Given the description of an element on the screen output the (x, y) to click on. 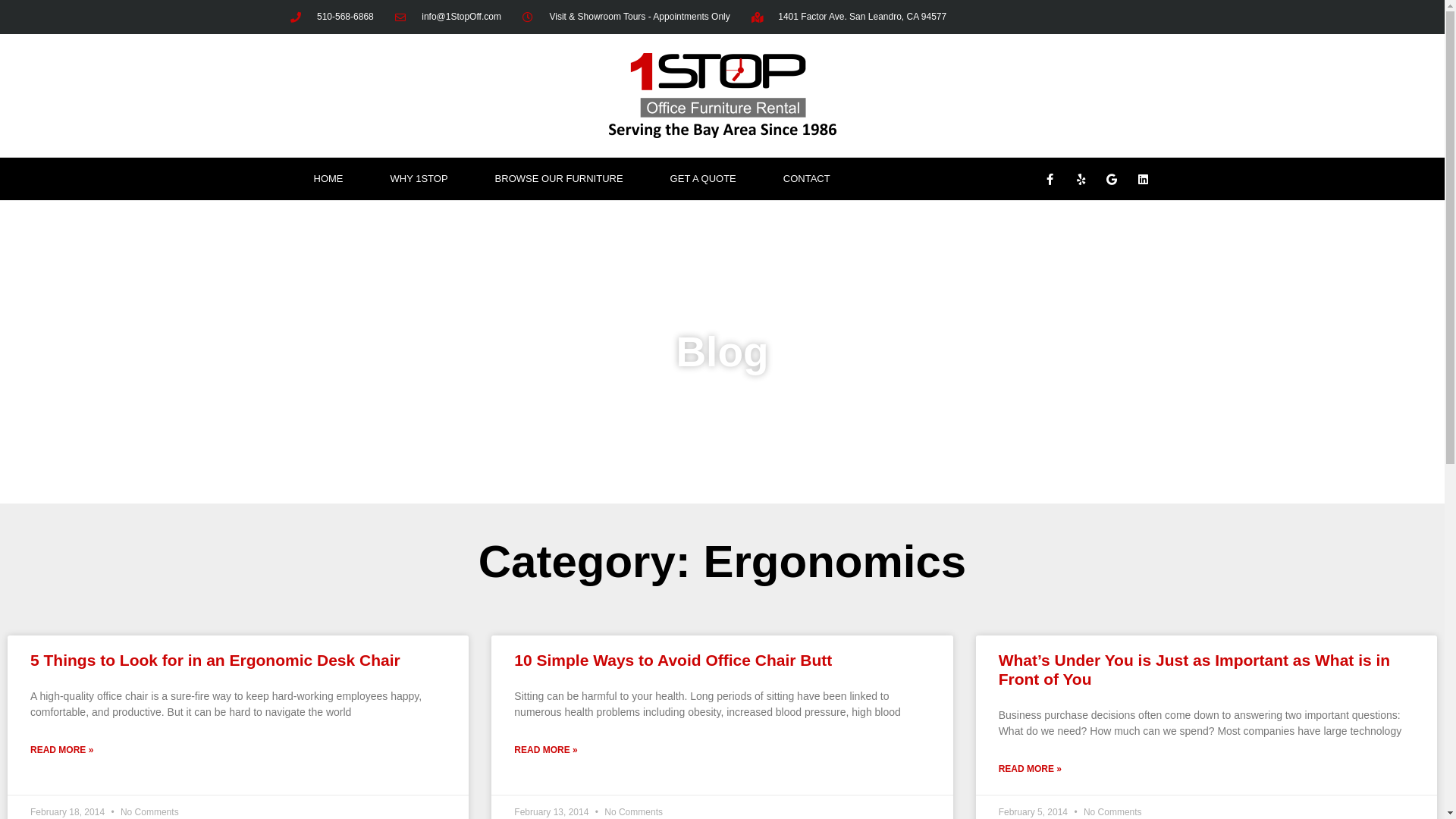
GET A QUOTE Element type: text (702, 178)
Google Element type: text (1111, 178)
Facebook-f Element type: text (1049, 178)
5 Things to Look for in an Ergonomic Desk Chair Element type: text (215, 659)
Yelp Element type: text (1080, 178)
BROWSE OUR FURNITURE Element type: text (558, 178)
10 Simple Ways to Avoid Office Chair Butt Element type: text (672, 659)
HOME Element type: text (327, 178)
CONTACT Element type: text (806, 178)
Linkedin Element type: text (1142, 178)
WHY 1STOP Element type: text (419, 178)
